Given the description of an element on the screen output the (x, y) to click on. 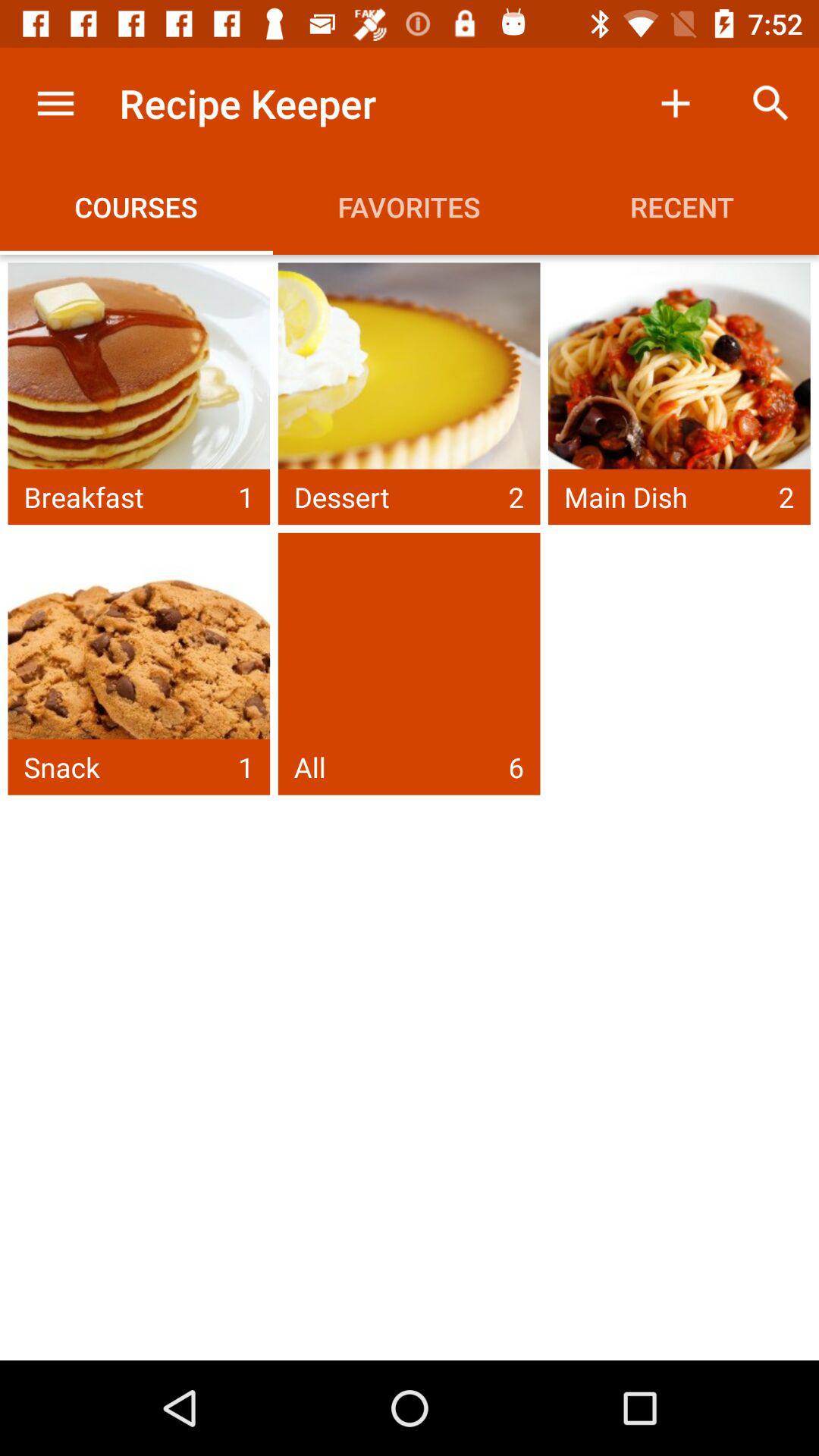
tap item above the recent icon (771, 103)
